Given the description of an element on the screen output the (x, y) to click on. 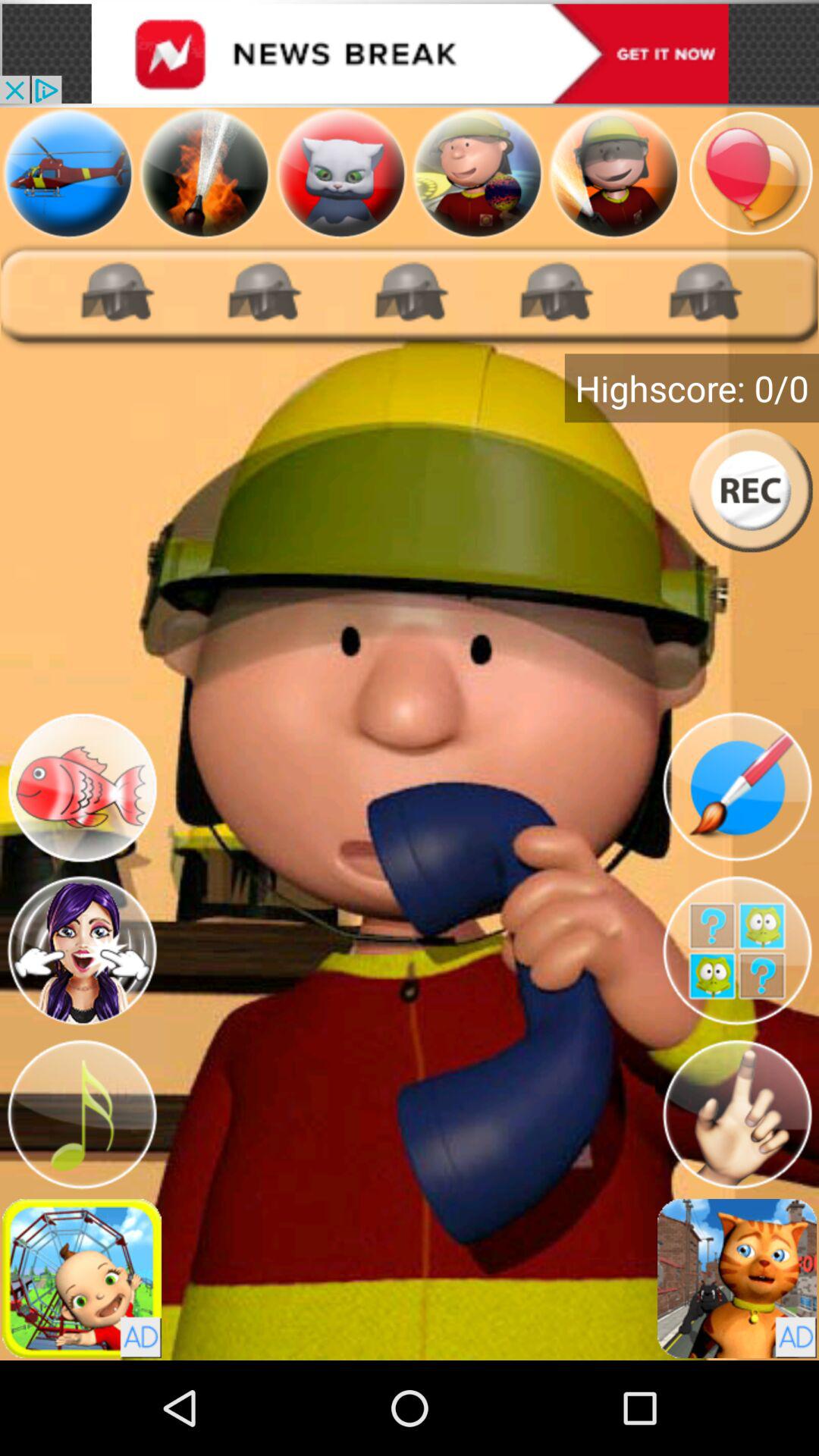
draw (737, 787)
